Given the description of an element on the screen output the (x, y) to click on. 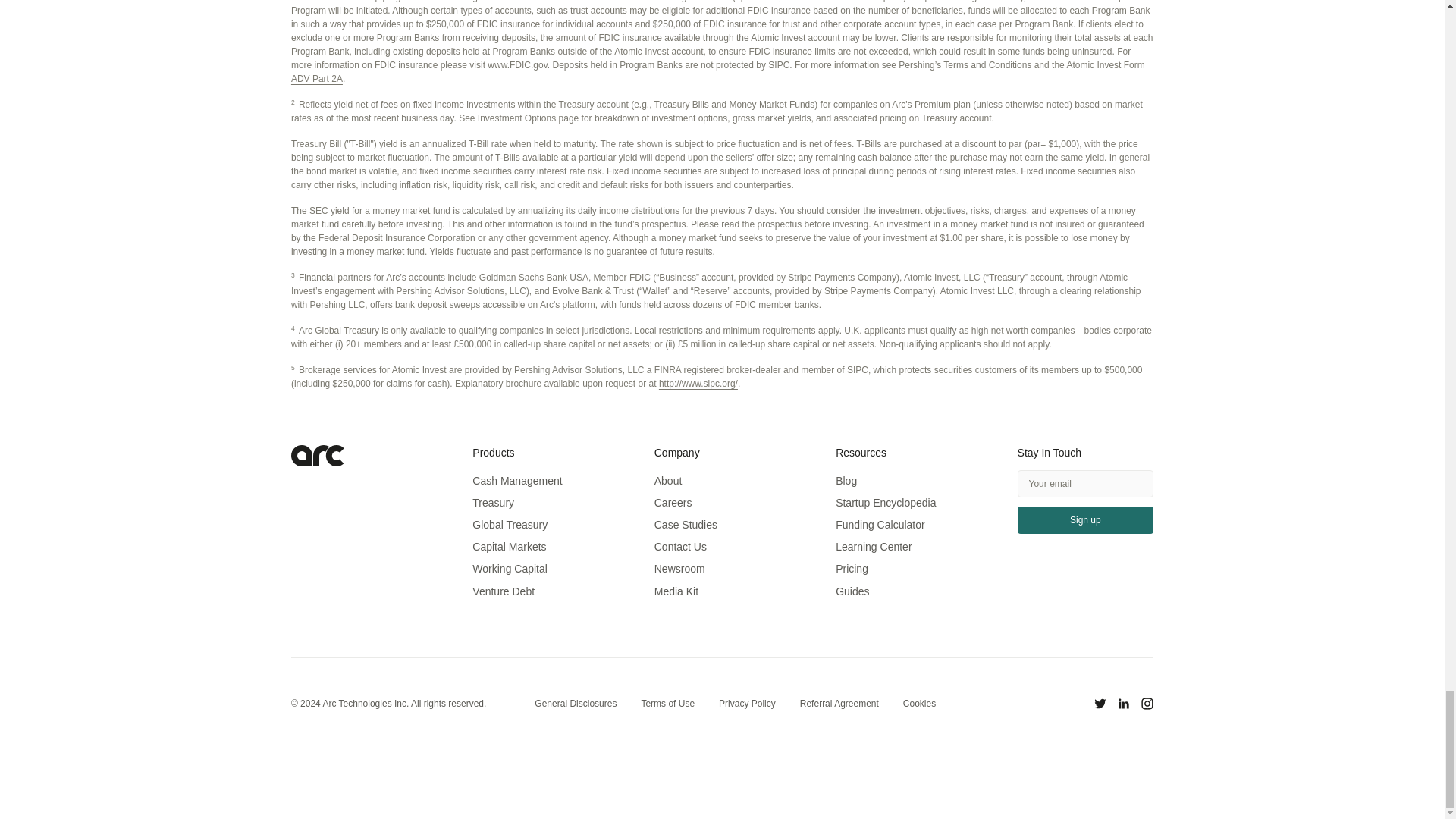
LinkedIn (1123, 703)
Twitter (1099, 703)
Instagram (1146, 703)
